Given the description of an element on the screen output the (x, y) to click on. 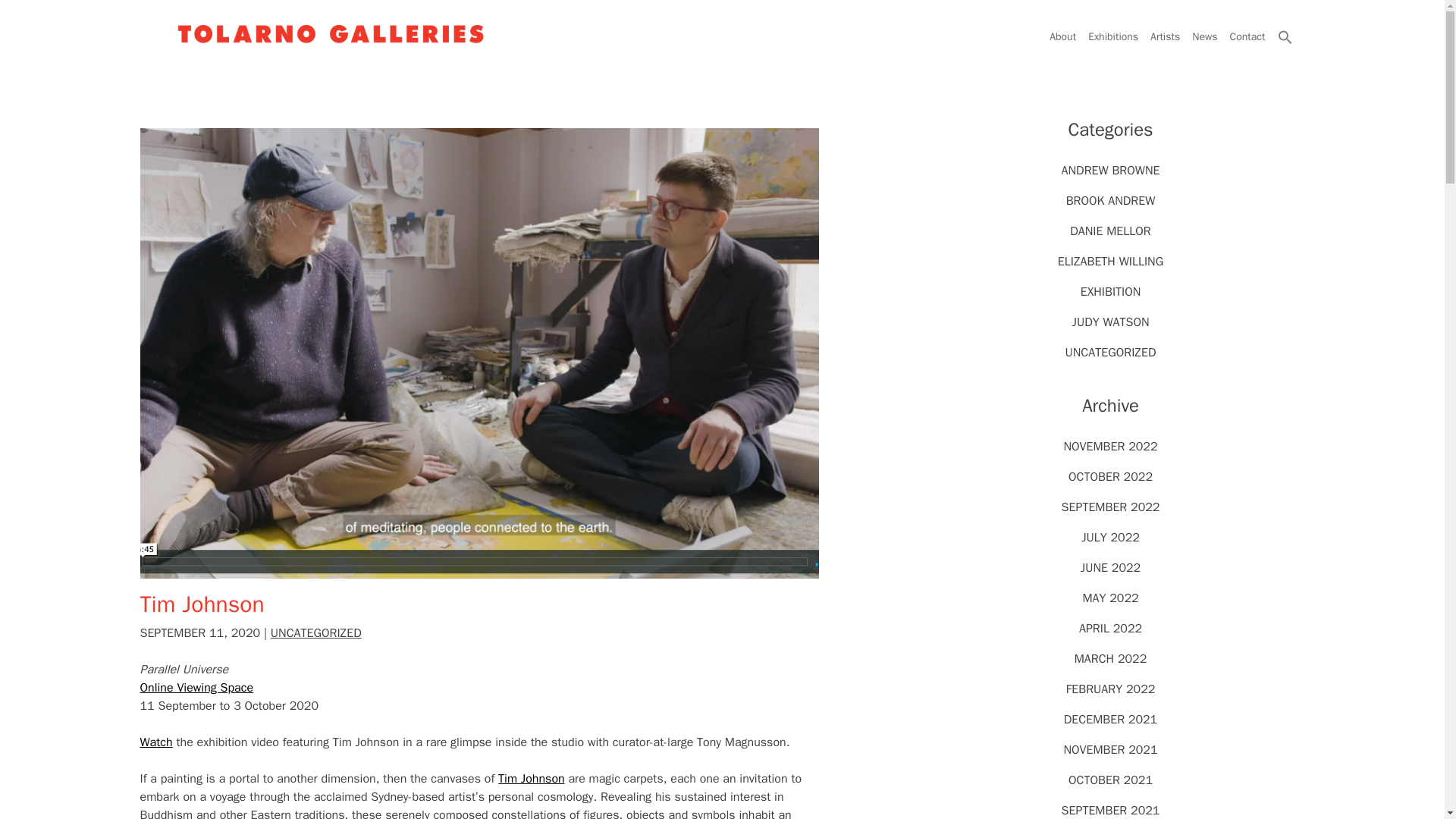
SEPTEMBER 2022 (1110, 507)
UNCATEGORIZED (1110, 352)
News (1204, 36)
SEPTEMBER 2021 (1110, 810)
Contact (1247, 36)
NOVEMBER 2022 (1109, 446)
JUNE 2022 (1110, 567)
FEBRUARY 2022 (1110, 688)
BROOK ANDREW (1110, 200)
About (1062, 36)
Online Viewing Space (196, 687)
OCTOBER 2022 (1110, 476)
NOVEMBER 2021 (1109, 749)
Tim Johnson (530, 778)
UNCATEGORIZED (315, 632)
